Given the description of an element on the screen output the (x, y) to click on. 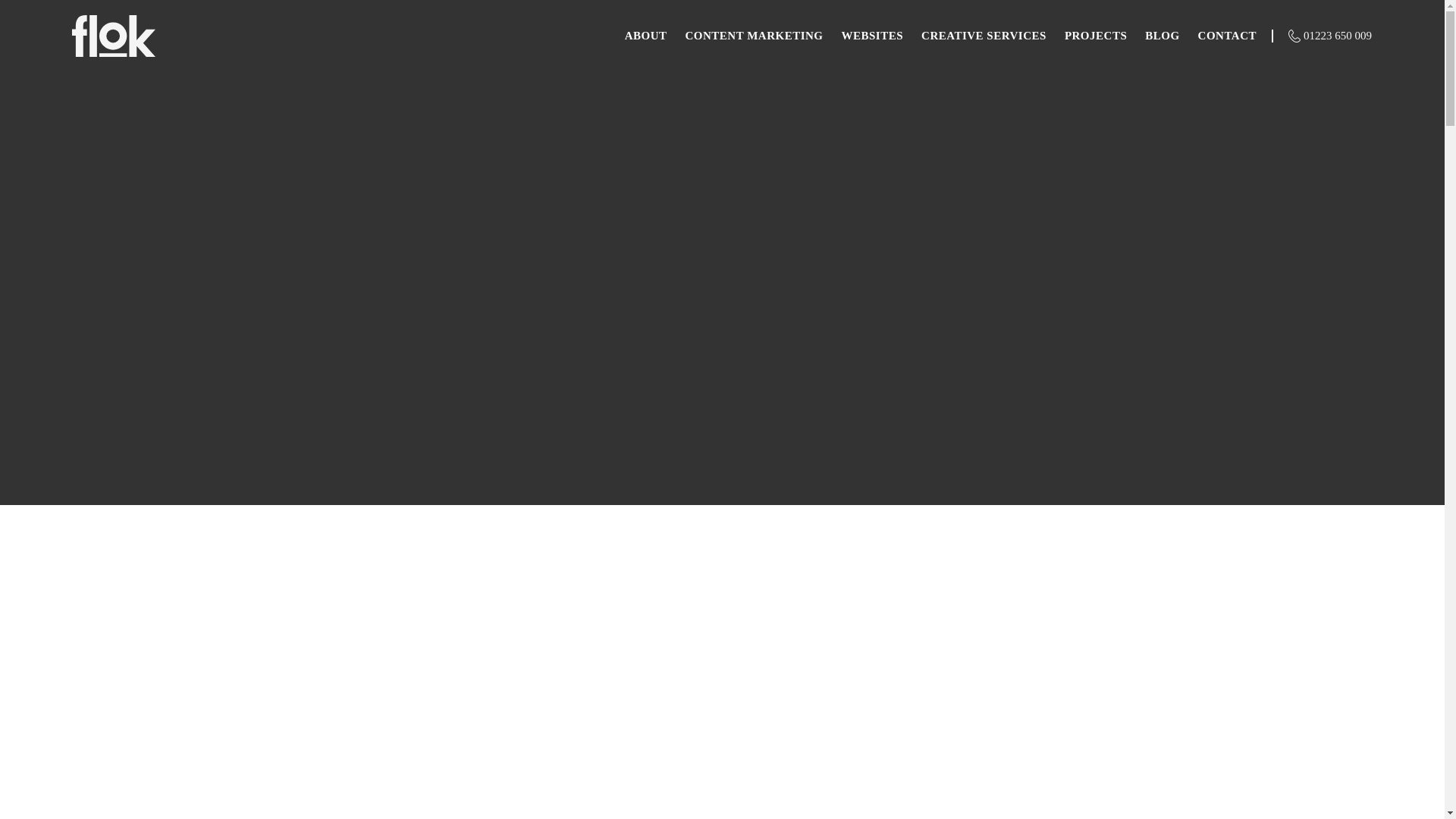
01223 650 009 (1337, 35)
CONTACT (1227, 36)
CREATIVE SERVICES (983, 36)
WEBSITES (872, 36)
PROJECTS (1095, 36)
CONTENT MARKETING (754, 36)
